Given the description of an element on the screen output the (x, y) to click on. 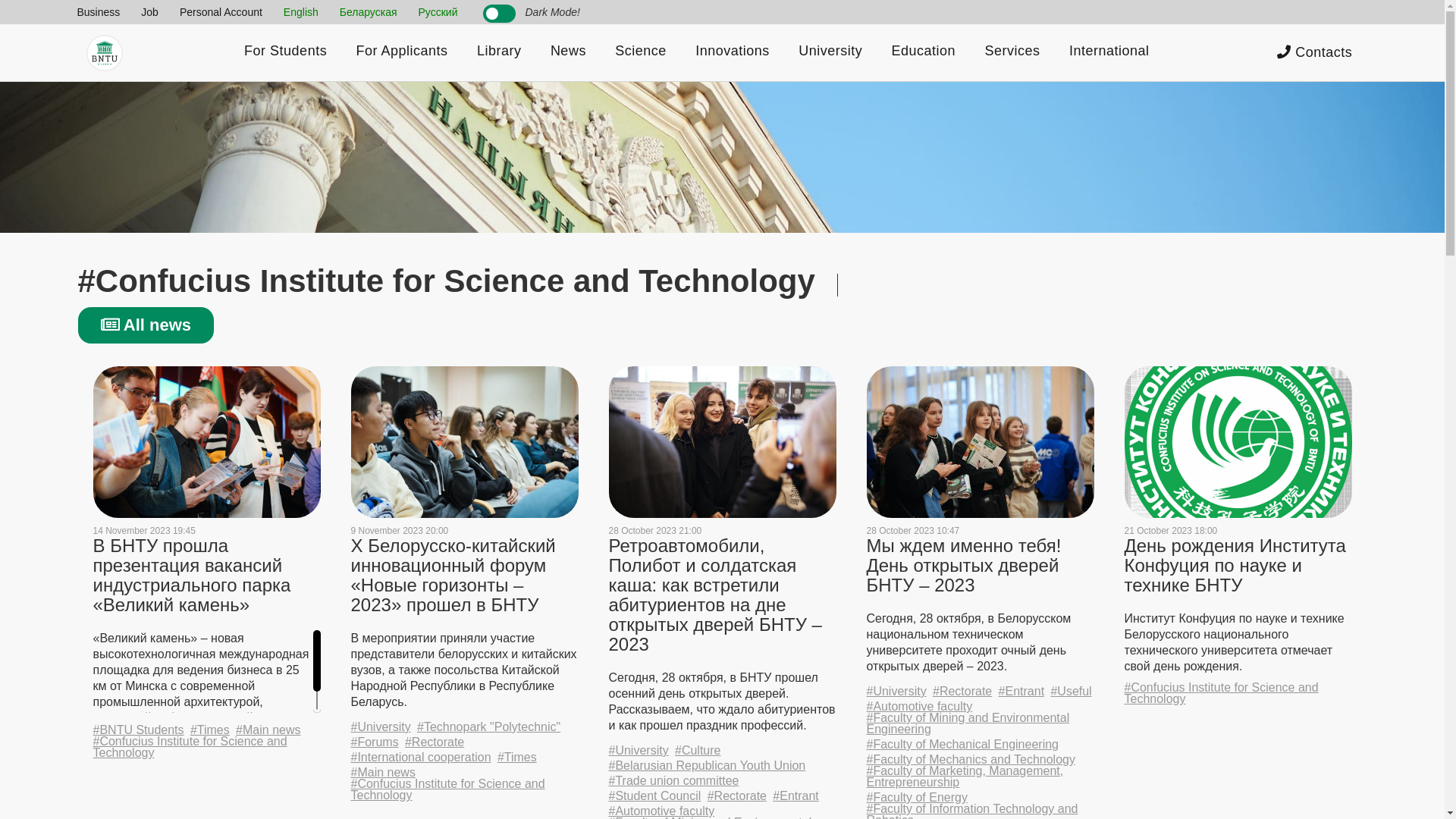
#Trade union committee Element type: text (673, 780)
News Element type: text (568, 52)
For Students Element type: text (285, 52)
#Technopark "Polytechnic" Element type: text (488, 726)
#Times Element type: text (209, 729)
International Element type: text (1109, 52)
#Student Council Element type: text (654, 795)
#Entrant Element type: text (795, 795)
#International cooperation Element type: text (420, 756)
#Faculty of Mining and Environmental Engineering Element type: text (979, 723)
#Faculty of Mechanical Engineering Element type: text (961, 743)
#Times Element type: text (516, 756)
Services Element type: text (1011, 52)
#University Element type: text (380, 726)
Science Element type: text (640, 52)
#Faculty of Mechanics and Technology Element type: text (970, 759)
#Faculty of Marketing, Management, Entrepreneurship Element type: text (979, 776)
#Main news Element type: text (267, 729)
#Faculty of Energy Element type: text (916, 797)
English Element type: text (301, 11)
Education Element type: text (922, 52)
#Entrant Element type: text (1021, 690)
#Belarusian Republican Youth Union Element type: text (706, 765)
#University Element type: text (895, 690)
#Useful Element type: text (1070, 690)
#Confucius Institute for Science and Technology Element type: text (206, 746)
#Rectorate Element type: text (434, 741)
#Culture Element type: text (697, 750)
#BNTU Students Element type: text (137, 729)
#Main news Element type: text (382, 772)
Innovations Element type: text (732, 52)
#Confucius Institute for Science and Technology Element type: text (463, 789)
#Rectorate Element type: text (736, 795)
#Automotive faculty Element type: text (919, 706)
Library Element type: text (499, 52)
#Forums Element type: text (374, 741)
Contacts Element type: text (1314, 52)
#Confucius Institute for Science and Technology Element type: text (1237, 692)
#University Element type: text (638, 750)
#Automotive faculty Element type: text (661, 810)
All news Element type: text (145, 325)
University Element type: text (830, 52)
Job Element type: text (149, 11)
Business Element type: text (98, 11)
Personal Account Element type: text (221, 11)
#Rectorate Element type: text (961, 690)
For Applicants Element type: text (401, 52)
